Given the description of an element on the screen output the (x, y) to click on. 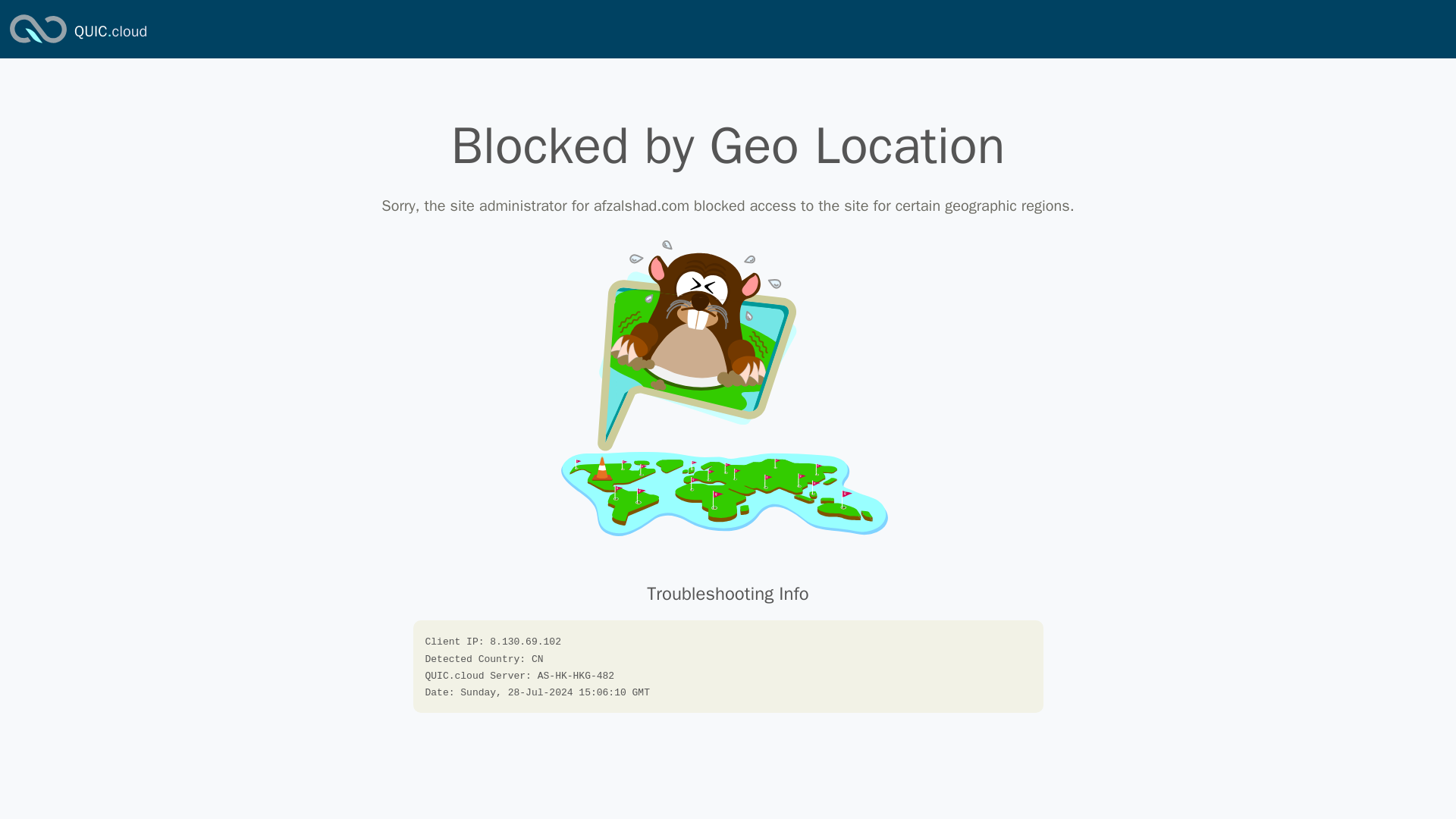
QUIC.cloud (37, 43)
QUIC.cloud (110, 31)
QUIC.cloud (110, 31)
